Given the description of an element on the screen output the (x, y) to click on. 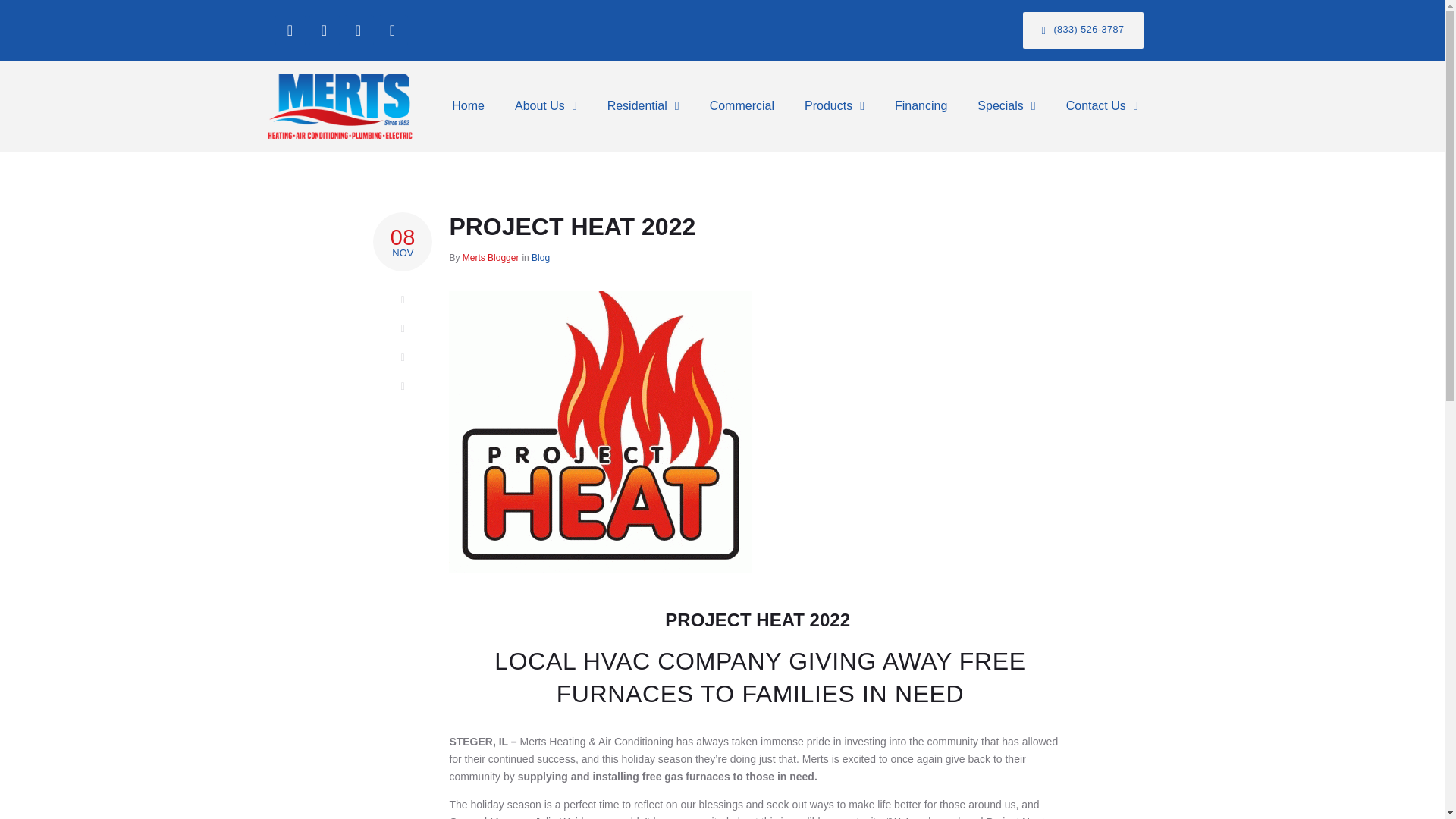
Residential (643, 105)
About Us (545, 105)
Home (467, 105)
